Given the description of an element on the screen output the (x, y) to click on. 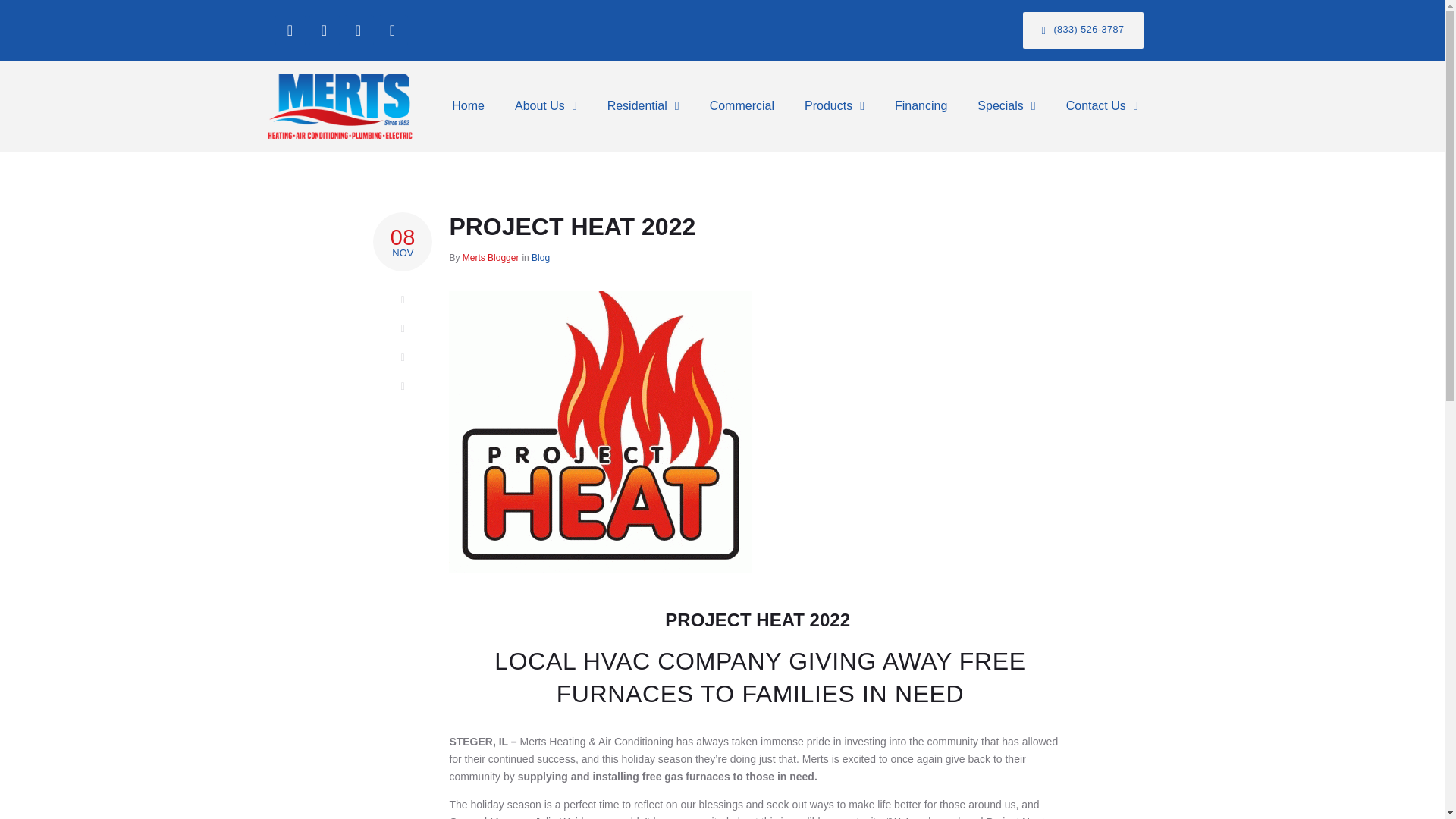
Residential (643, 105)
About Us (545, 105)
Home (467, 105)
